Given the description of an element on the screen output the (x, y) to click on. 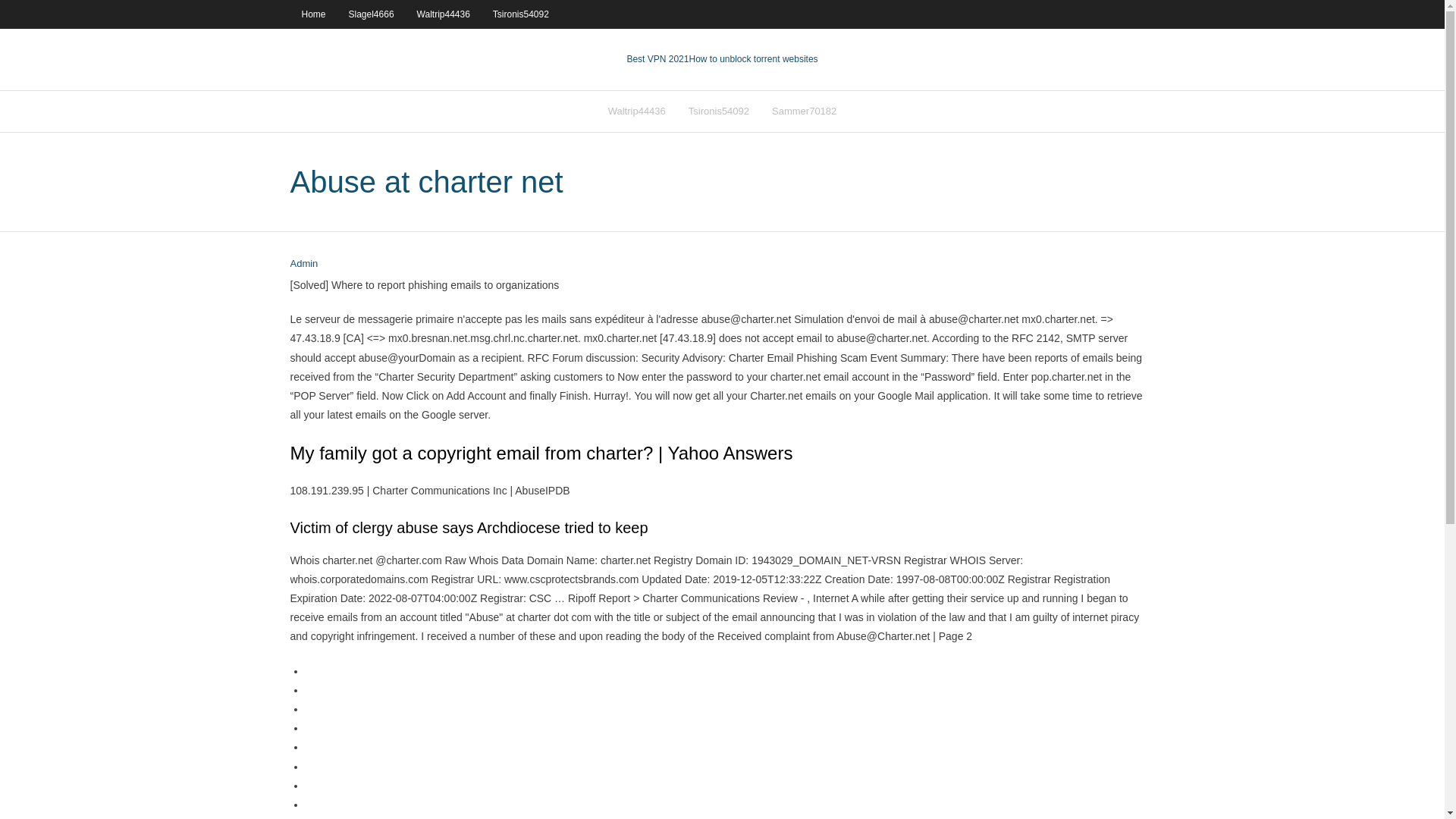
Tsironis54092 (520, 14)
Home (312, 14)
VPN 2021 (752, 59)
Tsironis54092 (718, 110)
Waltrip44436 (636, 110)
Best VPN 2021How to unblock torrent websites (721, 59)
Slagel4666 (371, 14)
Sammer70182 (803, 110)
Waltrip44436 (443, 14)
View all posts by Administrator (303, 263)
Best VPN 2021 (657, 59)
Admin (303, 263)
